Given the description of an element on the screen output the (x, y) to click on. 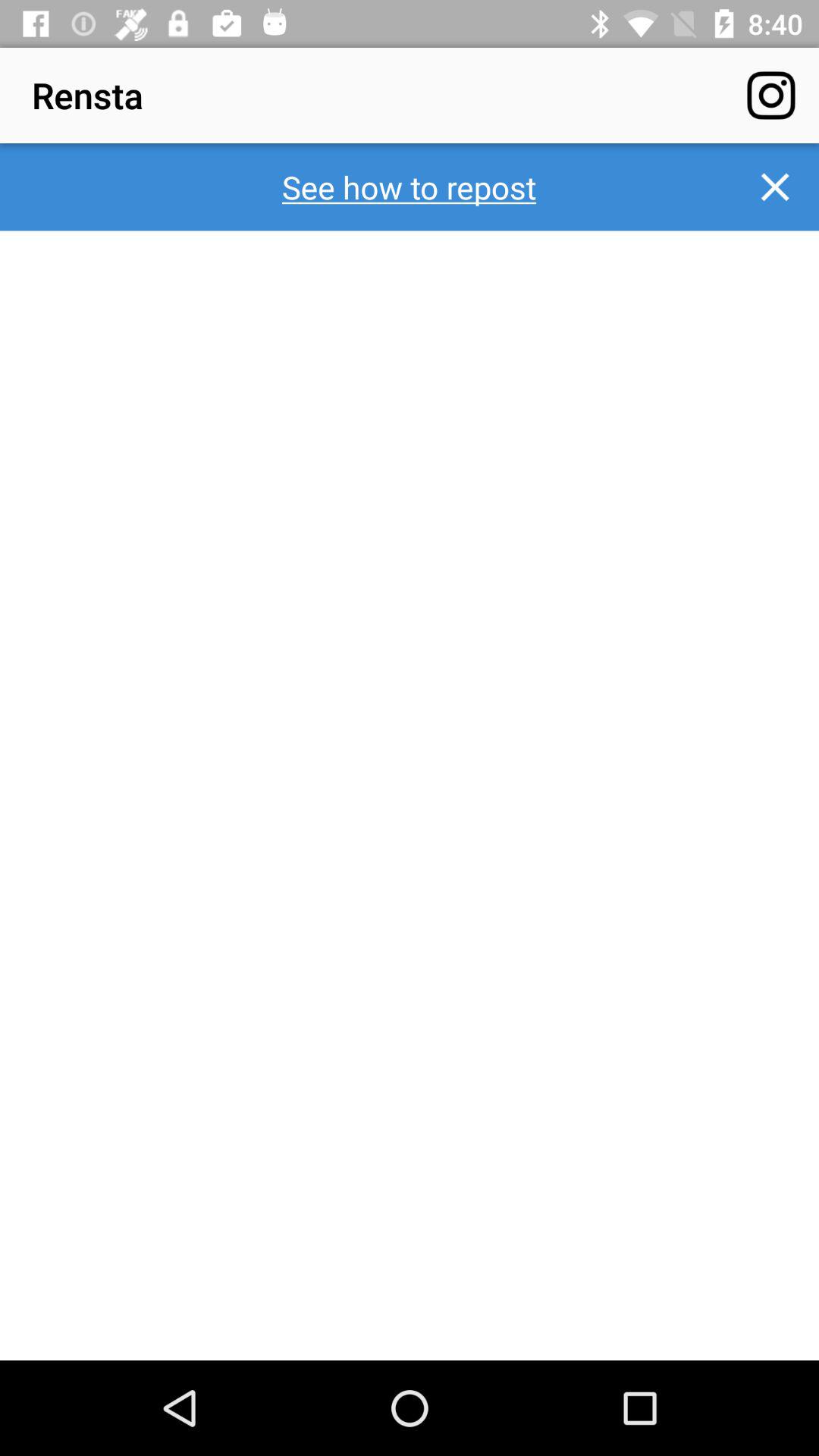
turn off the item at the top (409, 186)
